Given the description of an element on the screen output the (x, y) to click on. 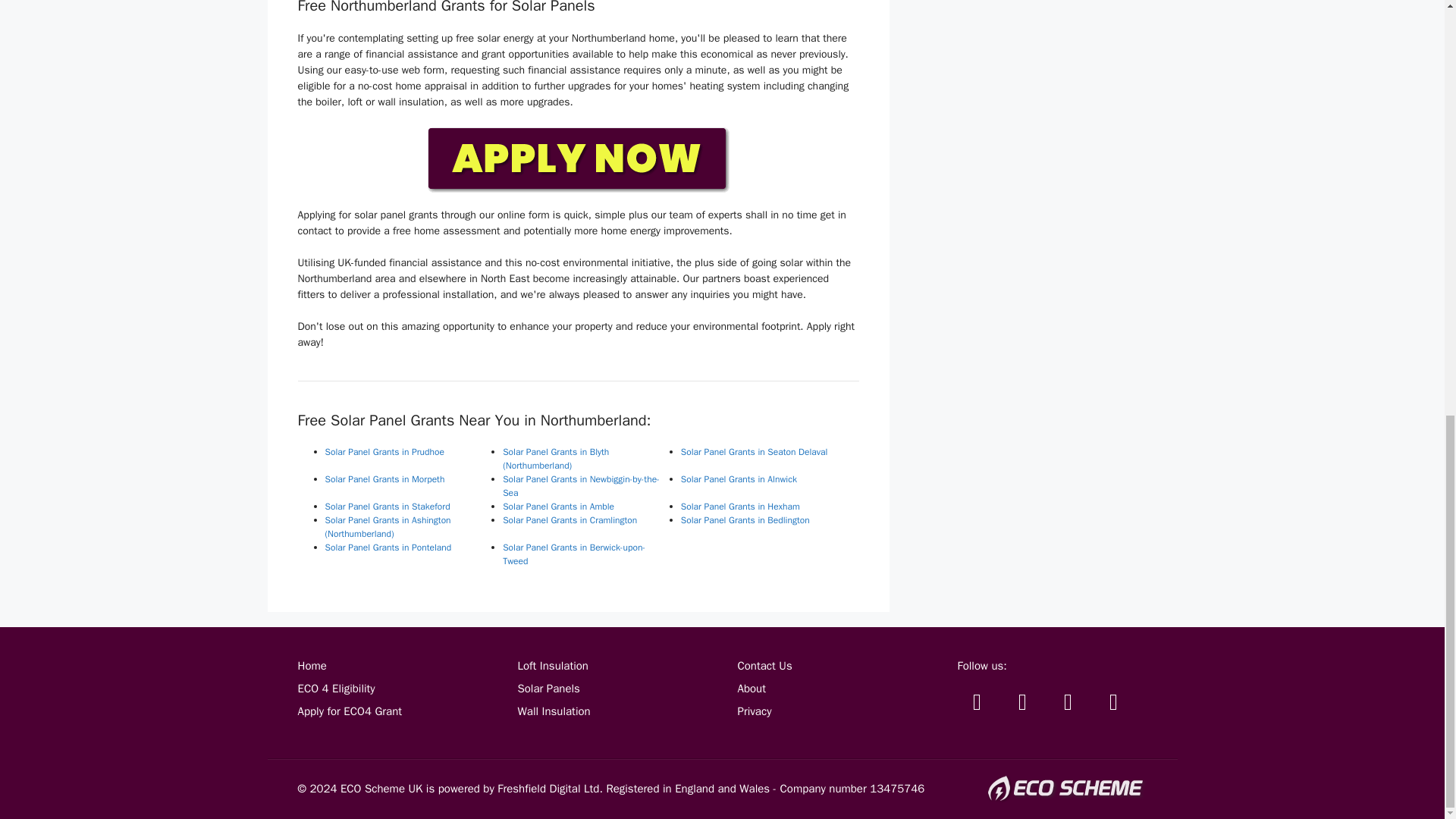
About (750, 688)
Solar Panel Grants in Seaton Delaval (754, 451)
ECO 4 Eligibility (335, 688)
Solar Panel Grants in Bedlington (745, 520)
Solar Panel Grants in Stakeford (386, 506)
Solar Panel Grants in Newbiggin-by-the-Sea (580, 485)
Twitter (975, 701)
Solar Panel Grants in Amble (558, 506)
Facebook (1022, 701)
Privacy (753, 711)
Solar Panel Grants in Cramlington (569, 520)
Home (311, 665)
Solar Panel Grants in Berwick-upon-Tweed (573, 554)
YouTube (1067, 701)
Loft Insulation (552, 665)
